Given the description of an element on the screen output the (x, y) to click on. 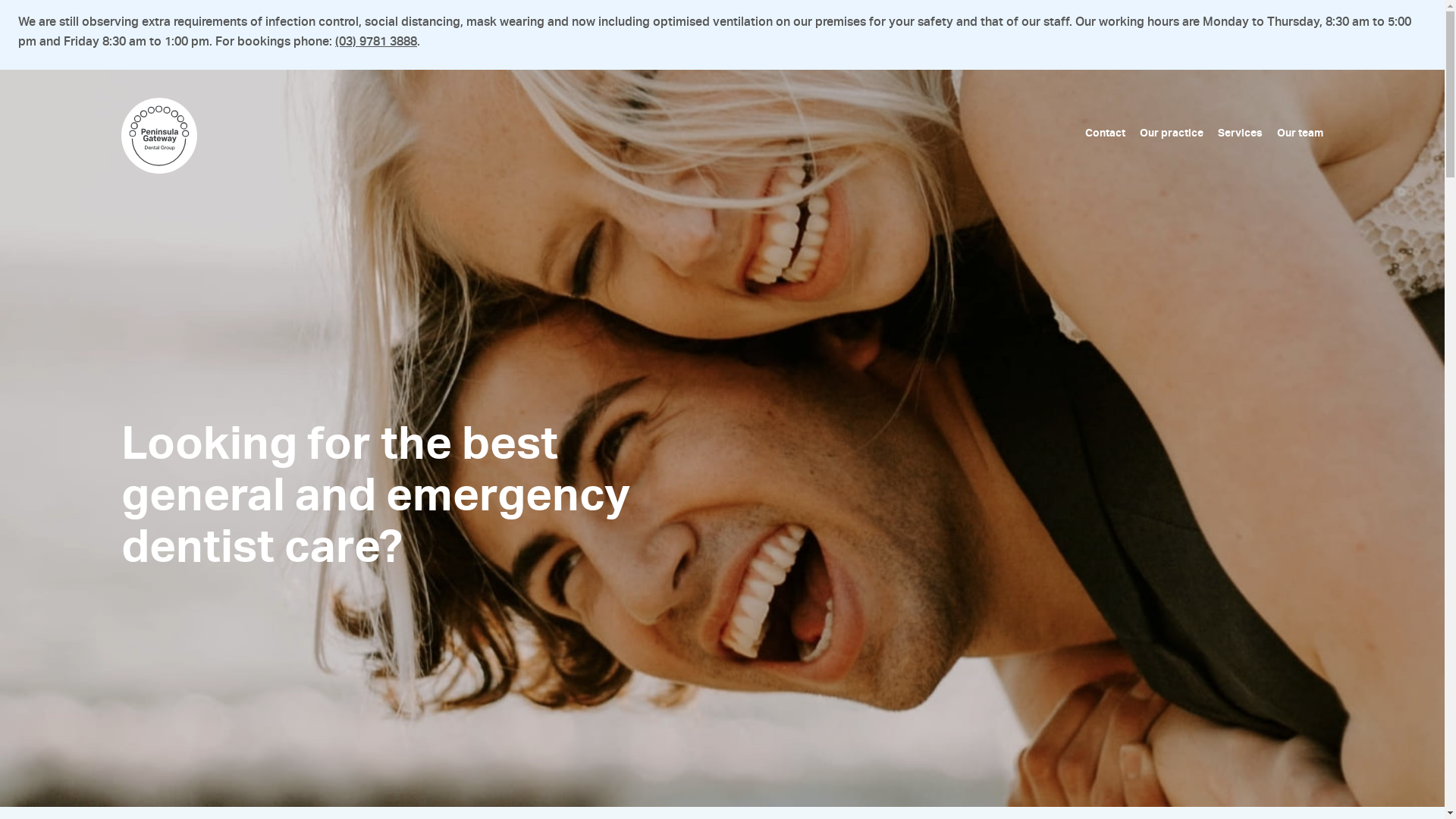
(03) 9781 3888 Element type: text (376, 41)
Services Element type: text (1239, 132)
Contact Element type: text (1105, 132)
Frankston family dentists | Peninsula Gateway Dental Group Element type: text (120, 134)
Our practice Element type: text (1171, 132)
Our team Element type: text (1300, 132)
